Given the description of an element on the screen output the (x, y) to click on. 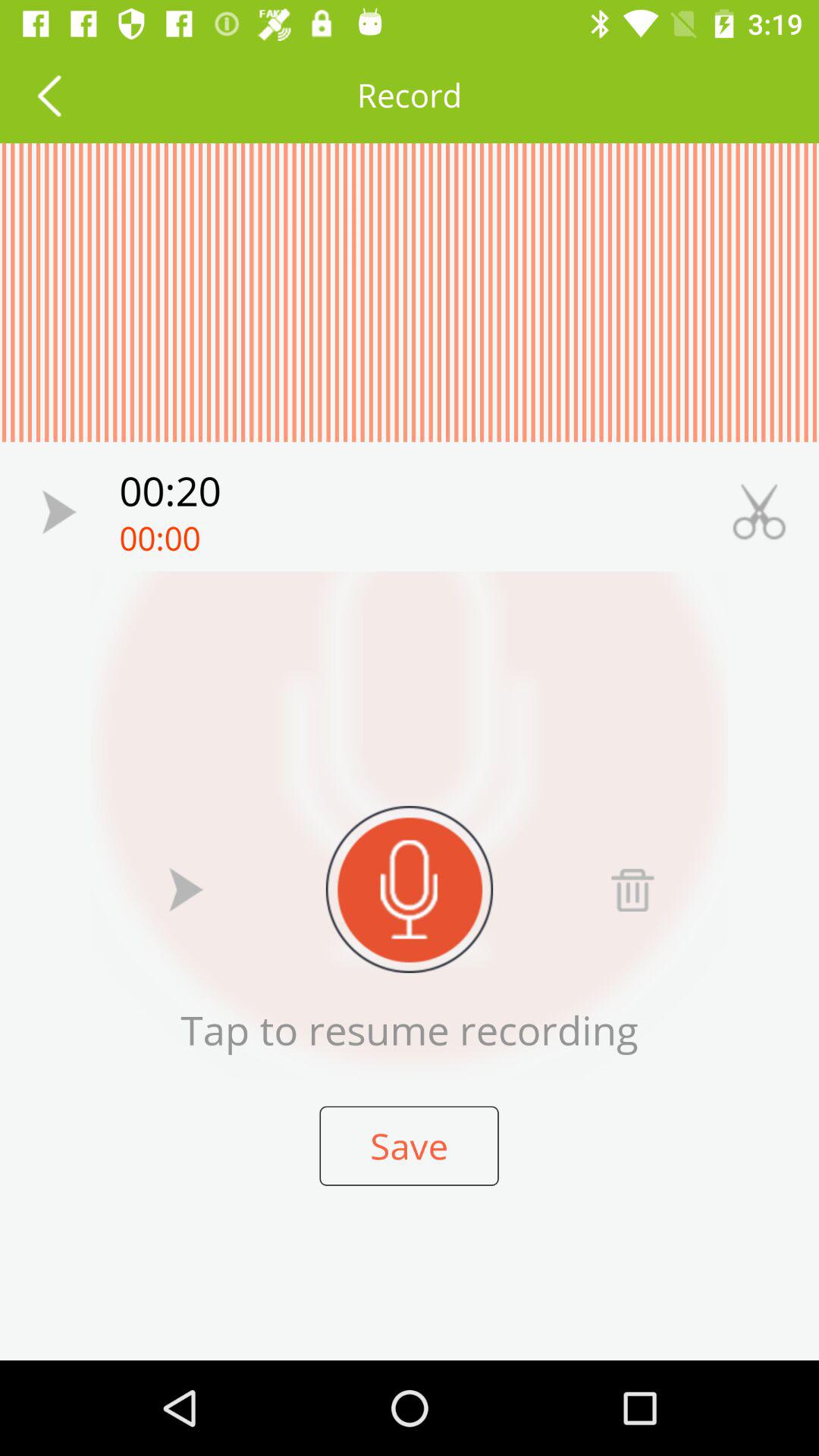
click to trim (759, 511)
